Given the description of an element on the screen output the (x, y) to click on. 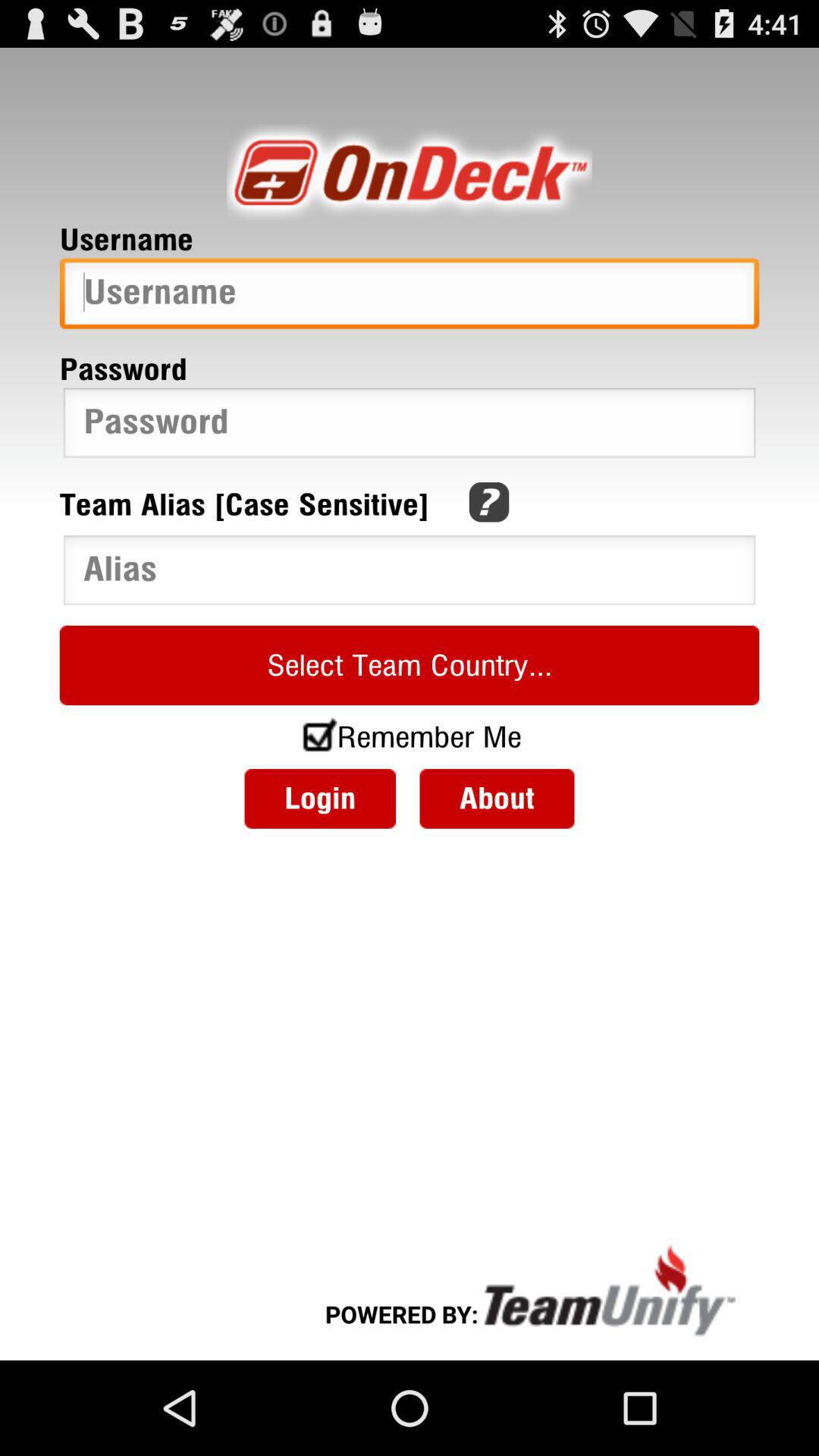
username (409, 296)
